Given the description of an element on the screen output the (x, y) to click on. 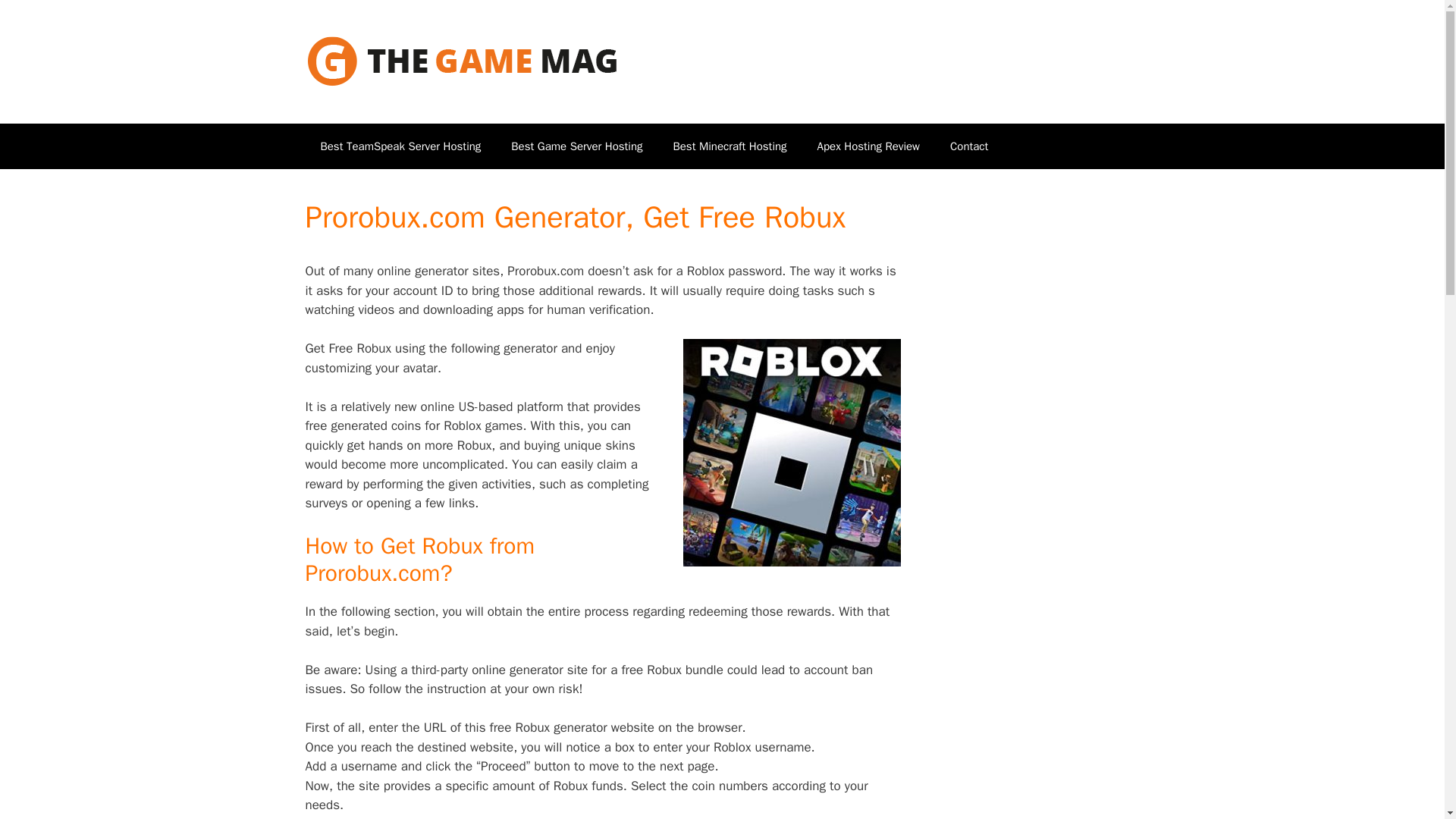
Best Game Server Hosting (577, 145)
Best TeamSpeak Server Hosting (400, 145)
The Game Mag (461, 60)
The Game Mag (461, 61)
Contact (968, 145)
Apex Hosting Review (868, 145)
Best Minecraft Hosting (730, 145)
